Given the description of an element on the screen output the (x, y) to click on. 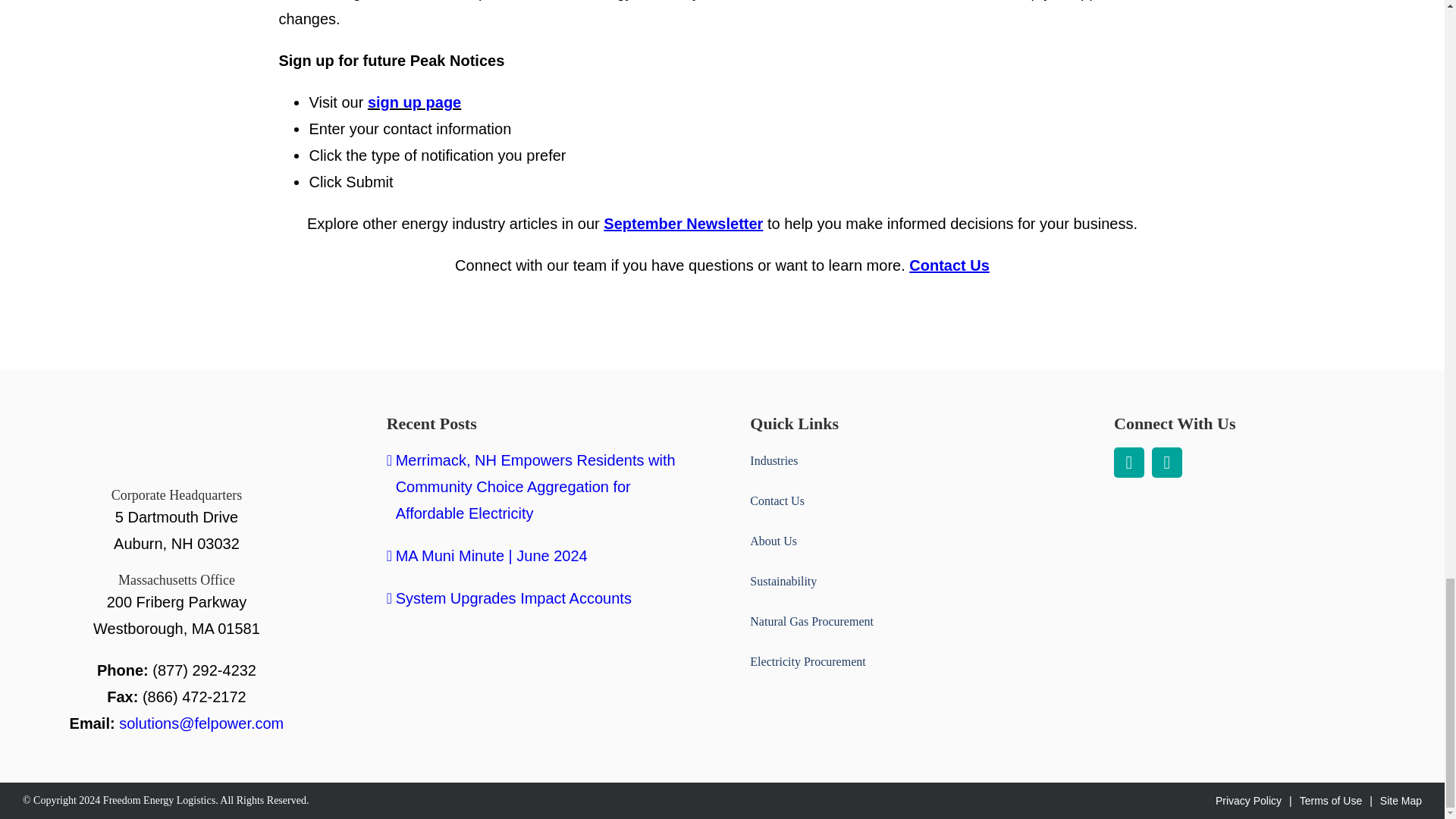
Comodo-secure-logo (1316, 545)
rising-stars-logo (1160, 637)
September Newsletter (683, 223)
BBB-logo (1153, 544)
sign up page (414, 102)
